Given the description of an element on the screen output the (x, y) to click on. 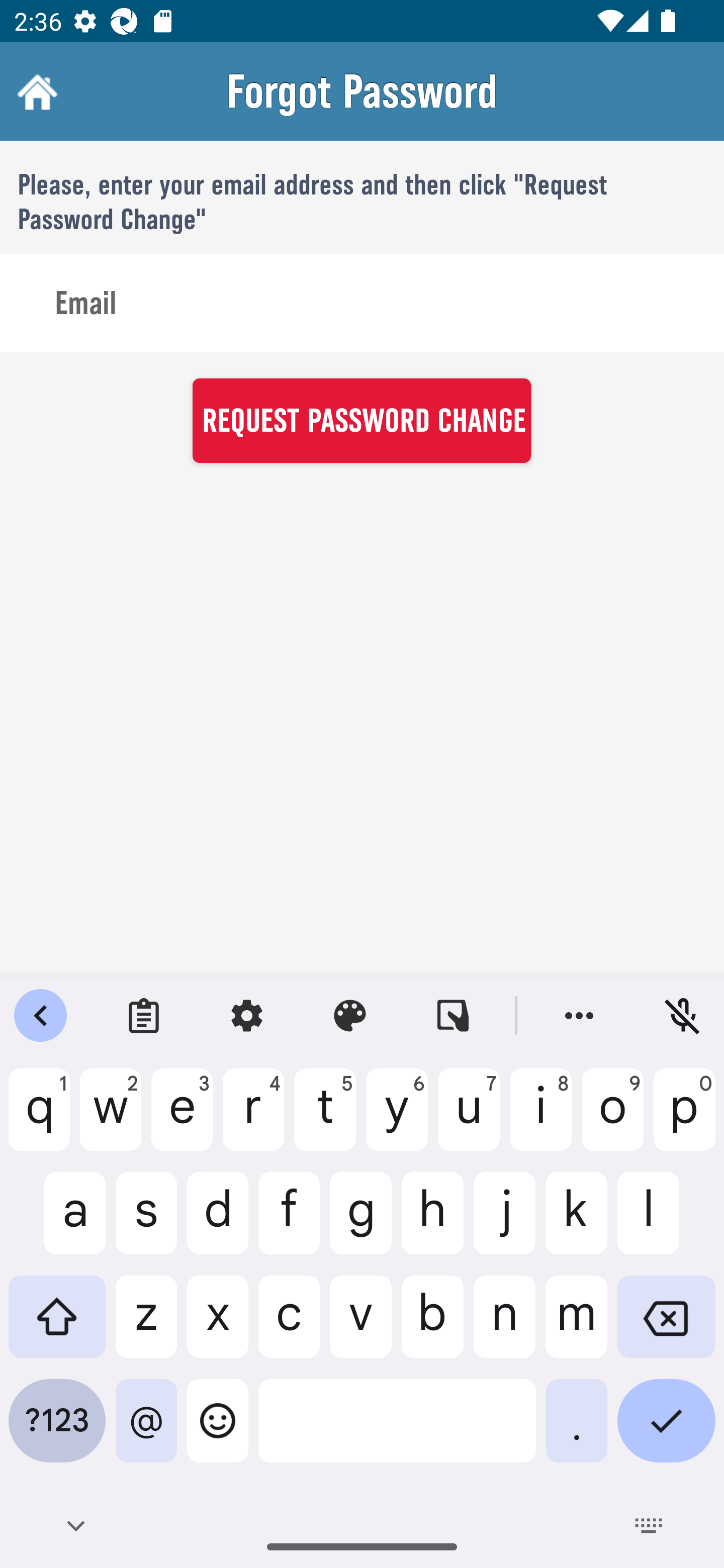
Home (35, 91)
Email (361, 303)
REQUEST PASSWORD CHANGE (361, 419)
